Given the description of an element on the screen output the (x, y) to click on. 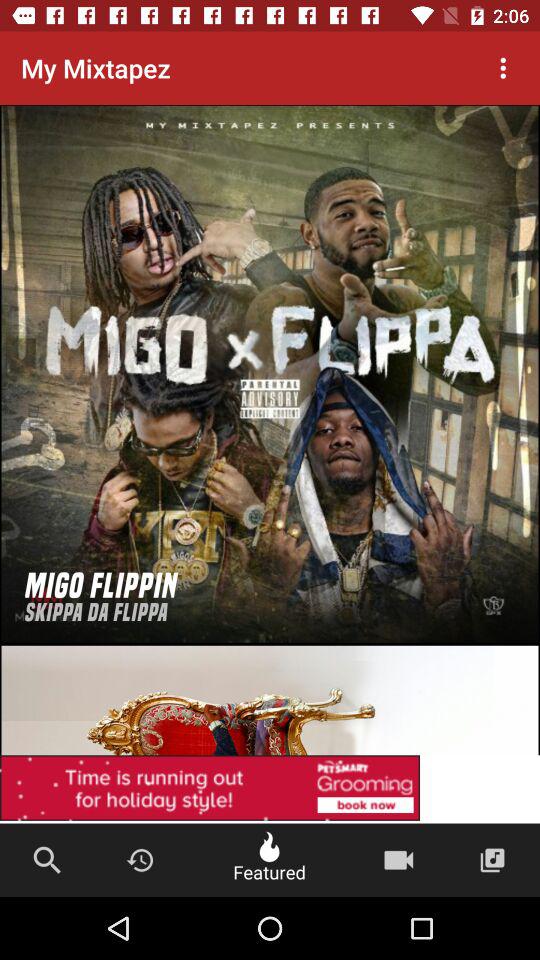
click to listen (269, 374)
